Given the description of an element on the screen output the (x, y) to click on. 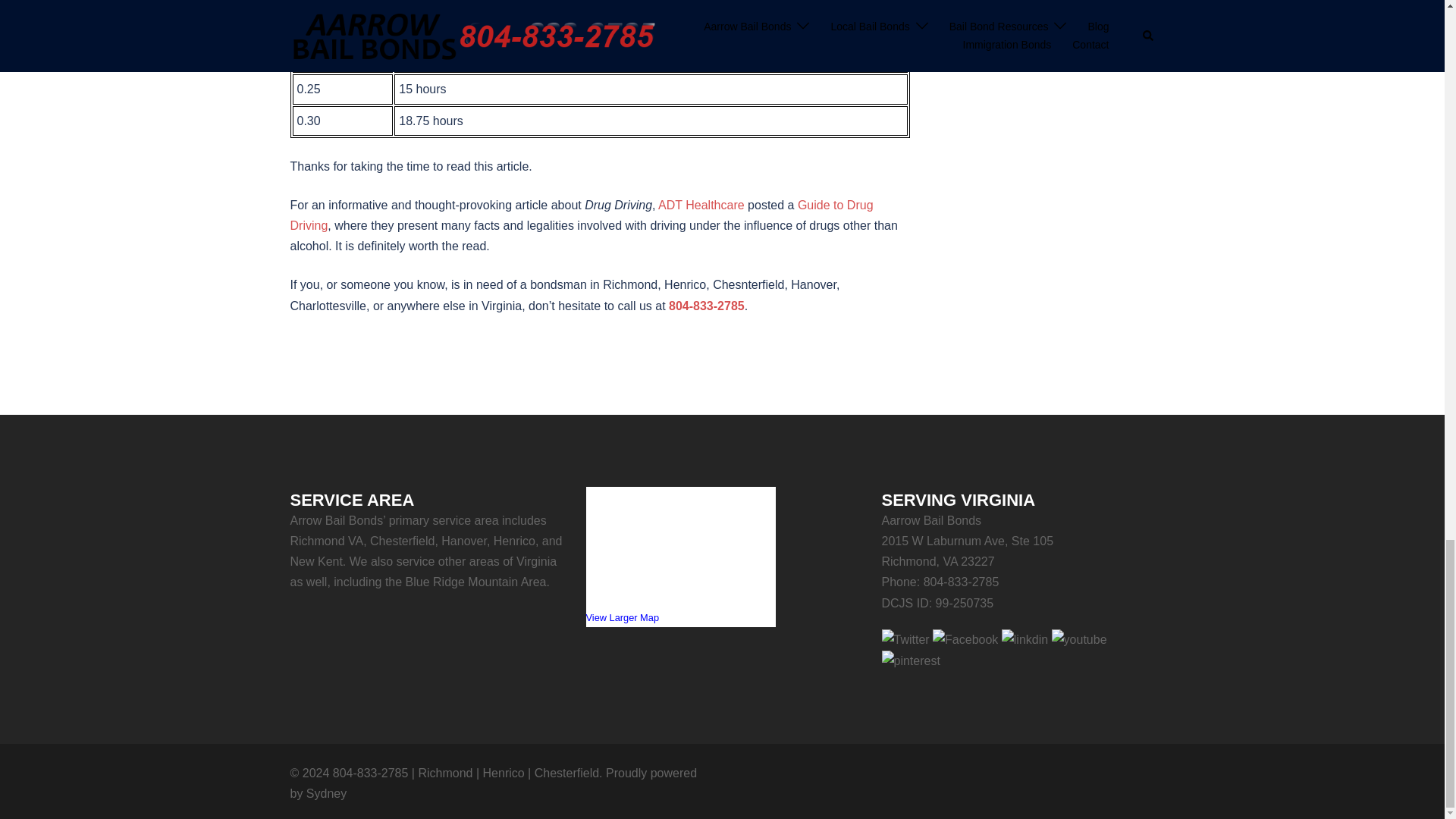
Twitter (904, 638)
Facebook (965, 638)
youtube (1078, 638)
pinterest (909, 659)
linkdin (1024, 638)
